Given the description of an element on the screen output the (x, y) to click on. 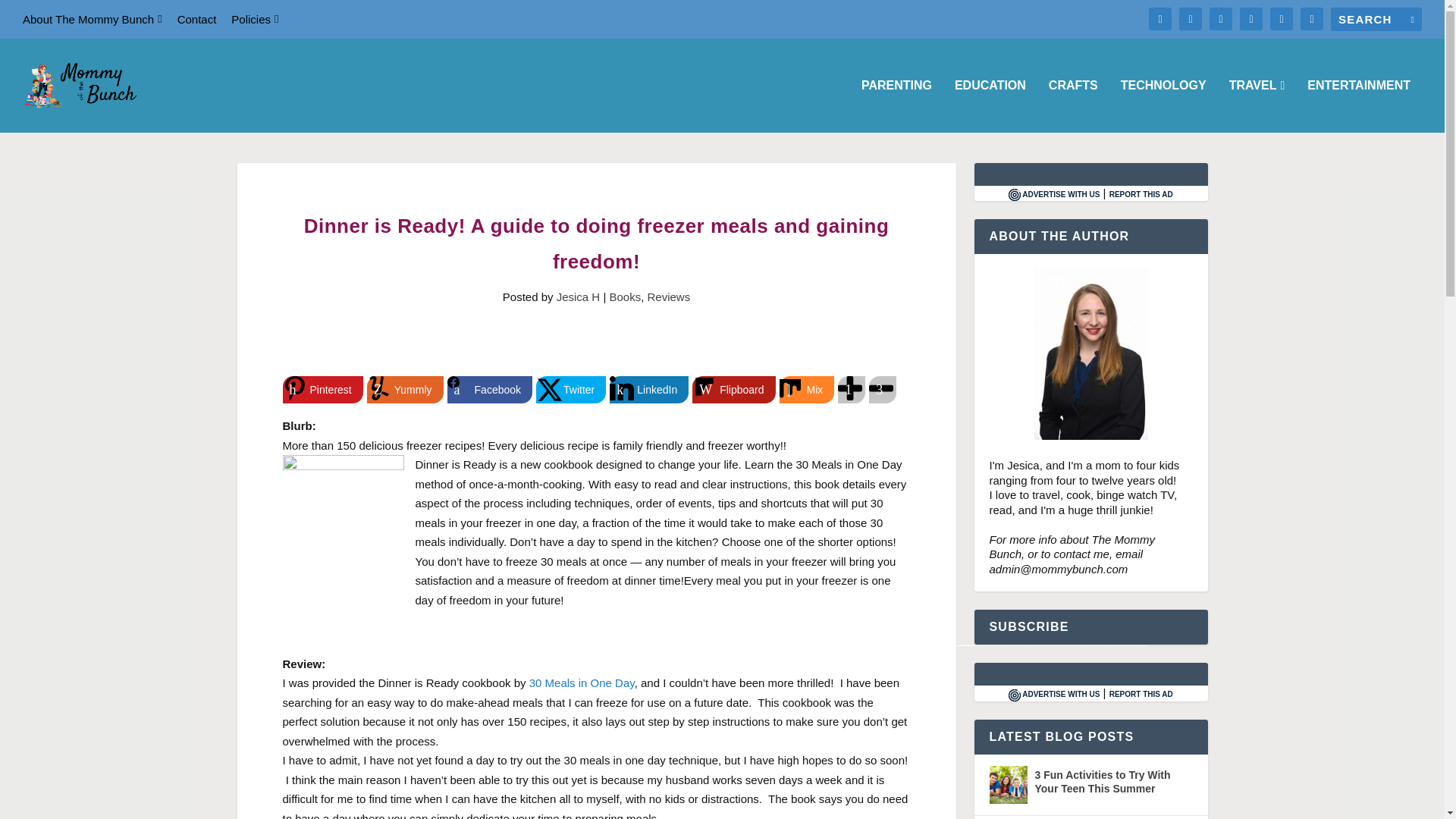
ENTERTAINMENT (1358, 105)
EDUCATION (990, 105)
Share on Facebook (489, 389)
Policies (254, 19)
Posts by Jesica H (577, 296)
Share on Yummly (405, 389)
Search for: (1376, 19)
TRAVEL (1256, 105)
PARENTING (896, 105)
Share on Pinterest (322, 389)
Facebook (489, 389)
Reviews (668, 296)
Share on LinkedIn (649, 389)
Share on Twitter (570, 389)
30 Meals in One Day (581, 682)
